Given the description of an element on the screen output the (x, y) to click on. 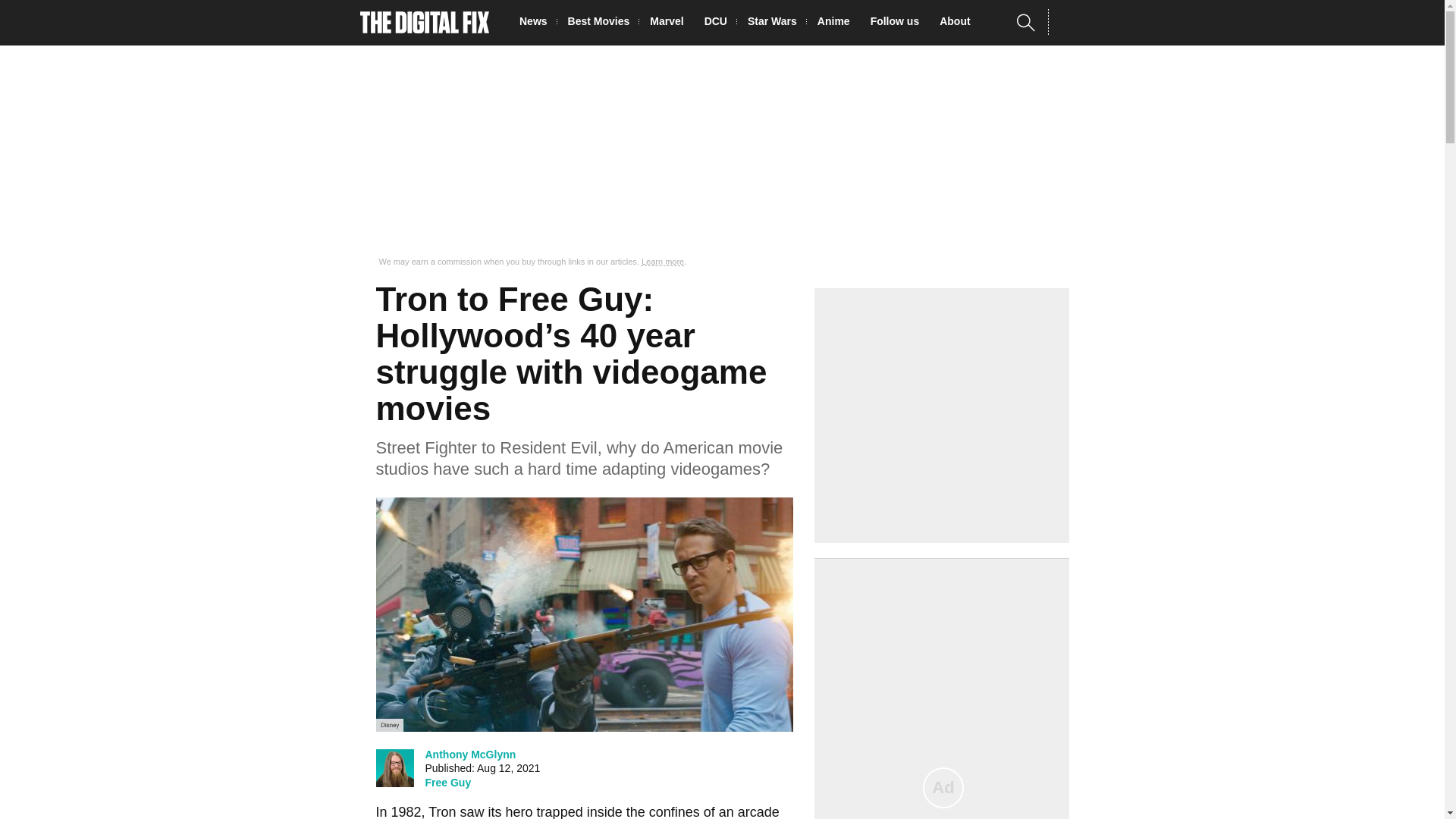
Star Wars News (777, 22)
Marvel (671, 22)
Star Wars (777, 22)
Free Guy (447, 782)
Learn more (663, 261)
Network N Media (1068, 22)
Anime (837, 22)
Best Movies (603, 22)
Anthony McGlynn (470, 754)
Anime News (837, 22)
